Given the description of an element on the screen output the (x, y) to click on. 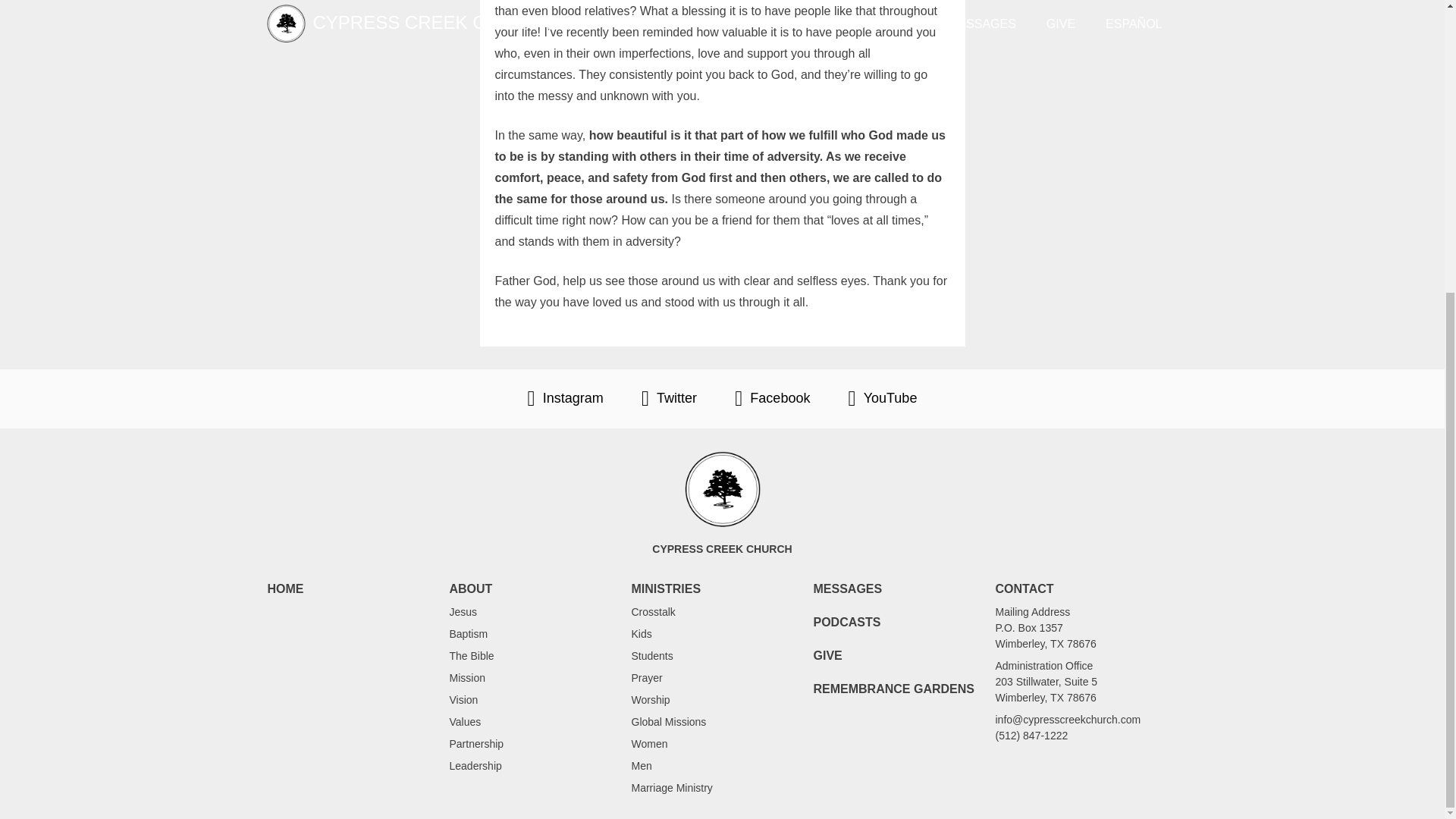
Baptism (467, 633)
Partnership (475, 743)
Twitter (669, 398)
YouTube (882, 398)
HOME (284, 588)
Jesus (462, 612)
Vision (462, 699)
The Bible (470, 655)
ABOUT (470, 588)
Mission (466, 677)
Values (464, 721)
Instagram (565, 398)
MINISTRIES (665, 588)
Crosstalk (652, 612)
Leadership (474, 766)
